Given the description of an element on the screen output the (x, y) to click on. 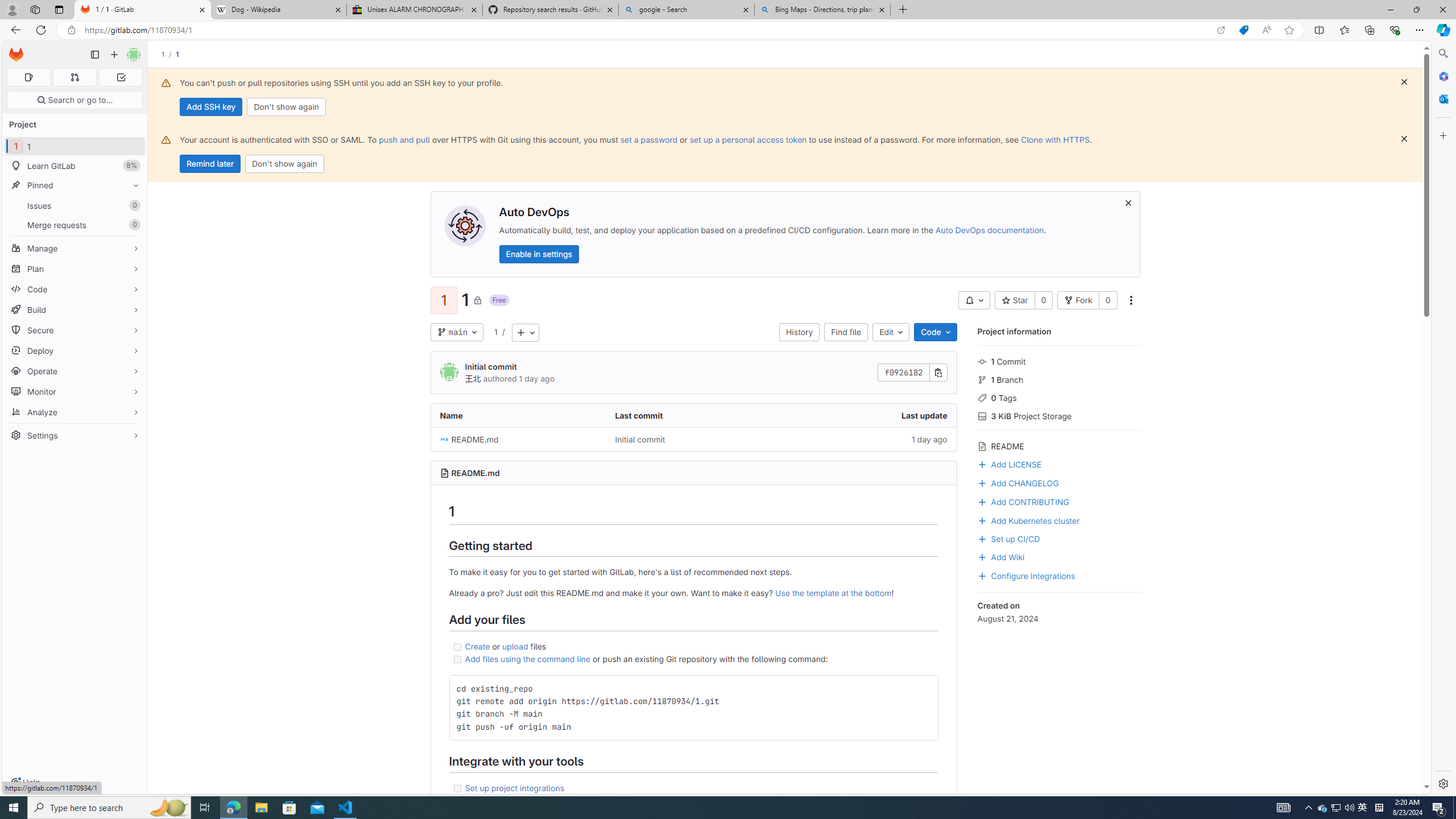
Homepage (16, 54)
Dog - Wikipedia (277, 9)
Add files using the command line (527, 659)
Class: s16 position-relative file-icon (444, 439)
Secure (74, 330)
Create new... (113, 54)
Find file (845, 331)
Class: s16 gl-alert-icon gl-alert-icon-no-title (165, 139)
Dismiss (1403, 138)
README.md (475, 473)
Assigned issues 0 (28, 76)
Plan (74, 268)
Manage (74, 248)
